Given the description of an element on the screen output the (x, y) to click on. 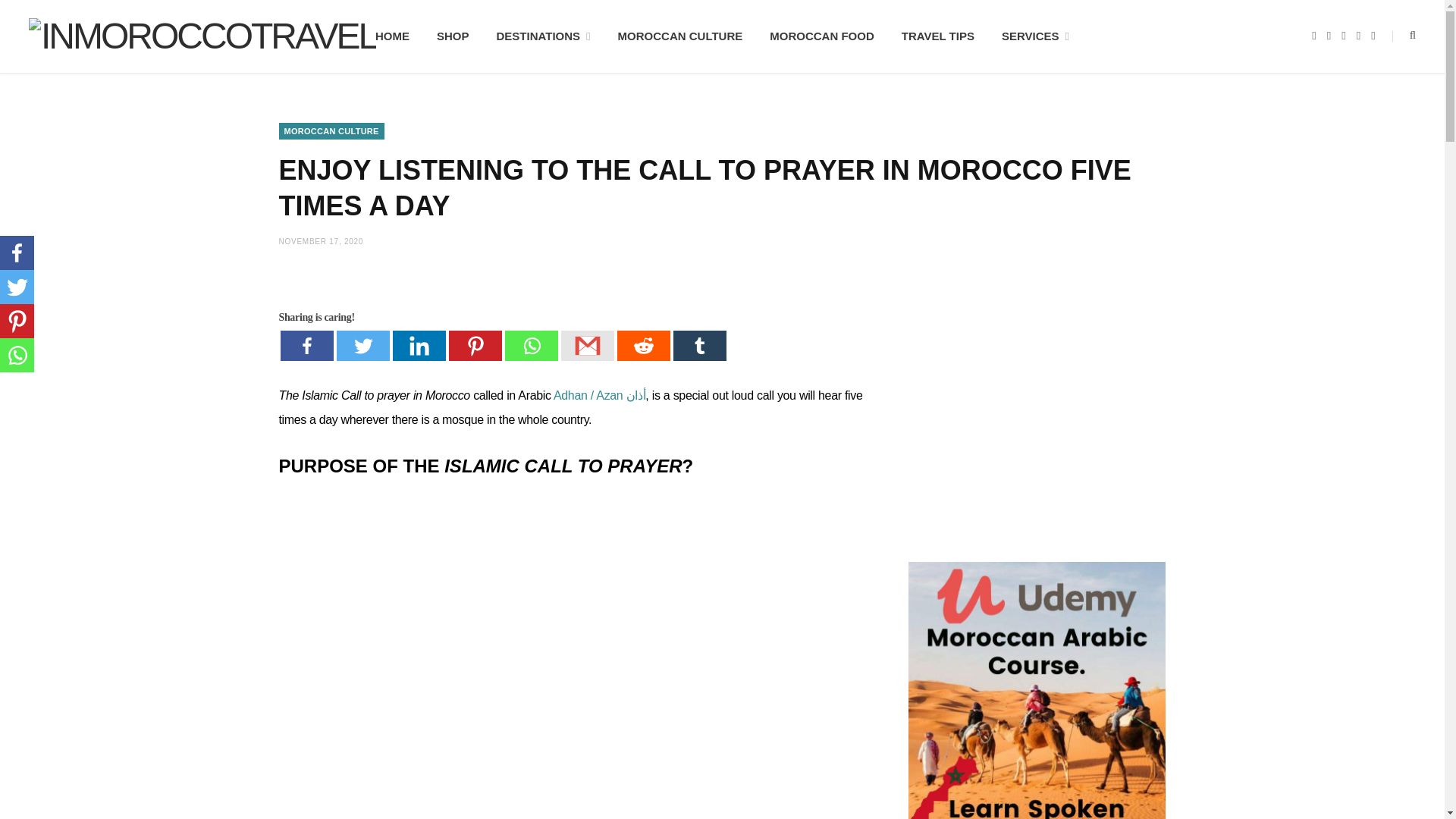
Tumblr (699, 345)
Linkedin (419, 345)
inmoroccotravel (202, 36)
Google Gmail (587, 345)
Pinterest (475, 345)
Twitter (363, 345)
DESTINATIONS (543, 36)
MOROCCAN CULTURE (680, 36)
Reddit (643, 345)
Facebook (307, 345)
Whatsapp (531, 345)
MOROCCAN CULTURE (331, 130)
NOVEMBER 17, 2020 (321, 241)
SERVICES (1035, 36)
MOROCCAN FOOD (821, 36)
